Given the description of an element on the screen output the (x, y) to click on. 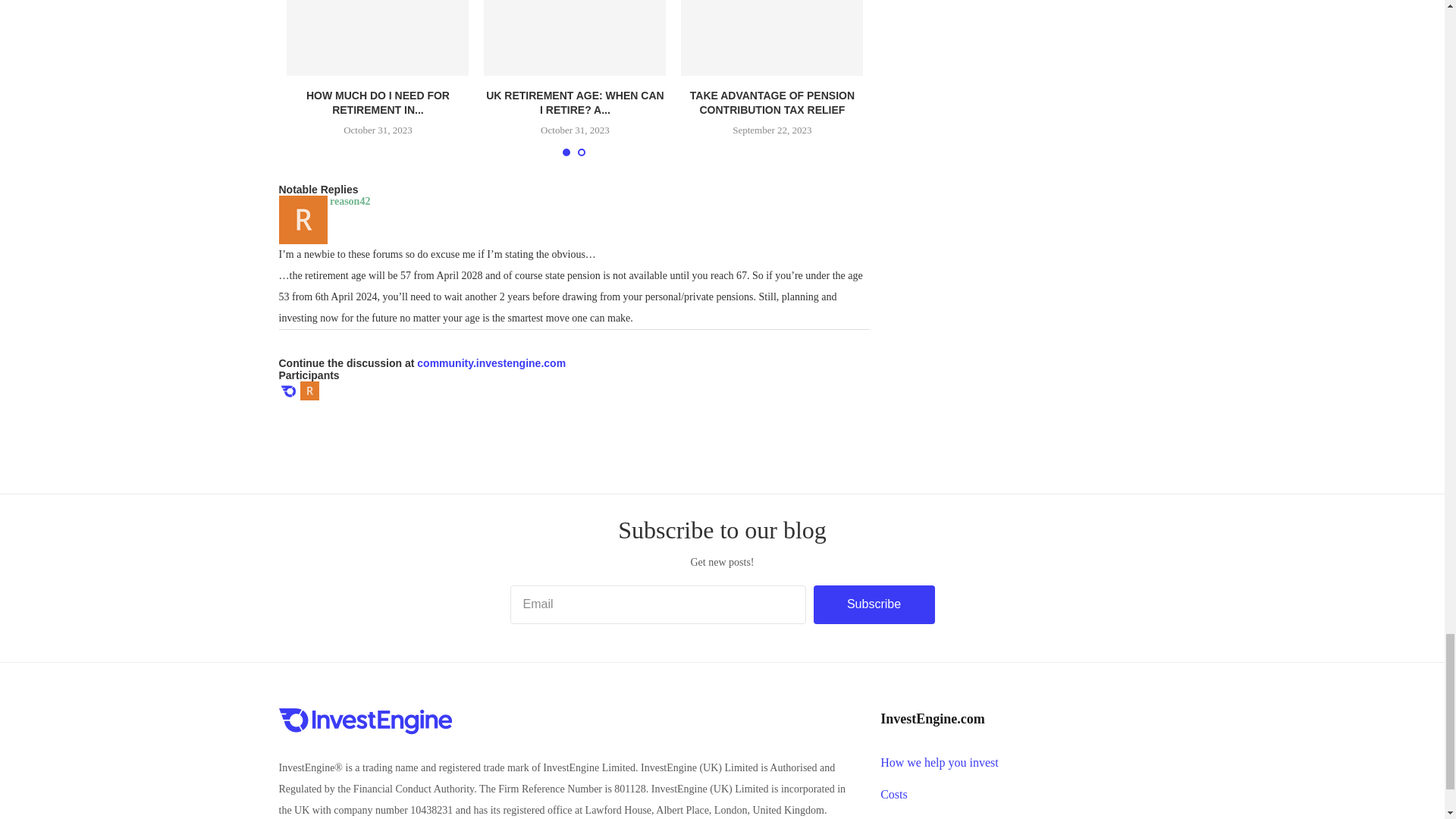
Subscribe (873, 604)
Take advantage of pension contribution tax relief (772, 38)
TAKE ADVANTAGE OF PENSION CONTRIBUTION TAX RELIEF (772, 103)
How much do I need for retirement in the UK? (377, 38)
HOW MUCH DO I NEED FOR RETIREMENT IN... (377, 103)
UK RETIREMENT AGE: WHEN CAN I RETIRE? A... (574, 103)
